Given the description of an element on the screen output the (x, y) to click on. 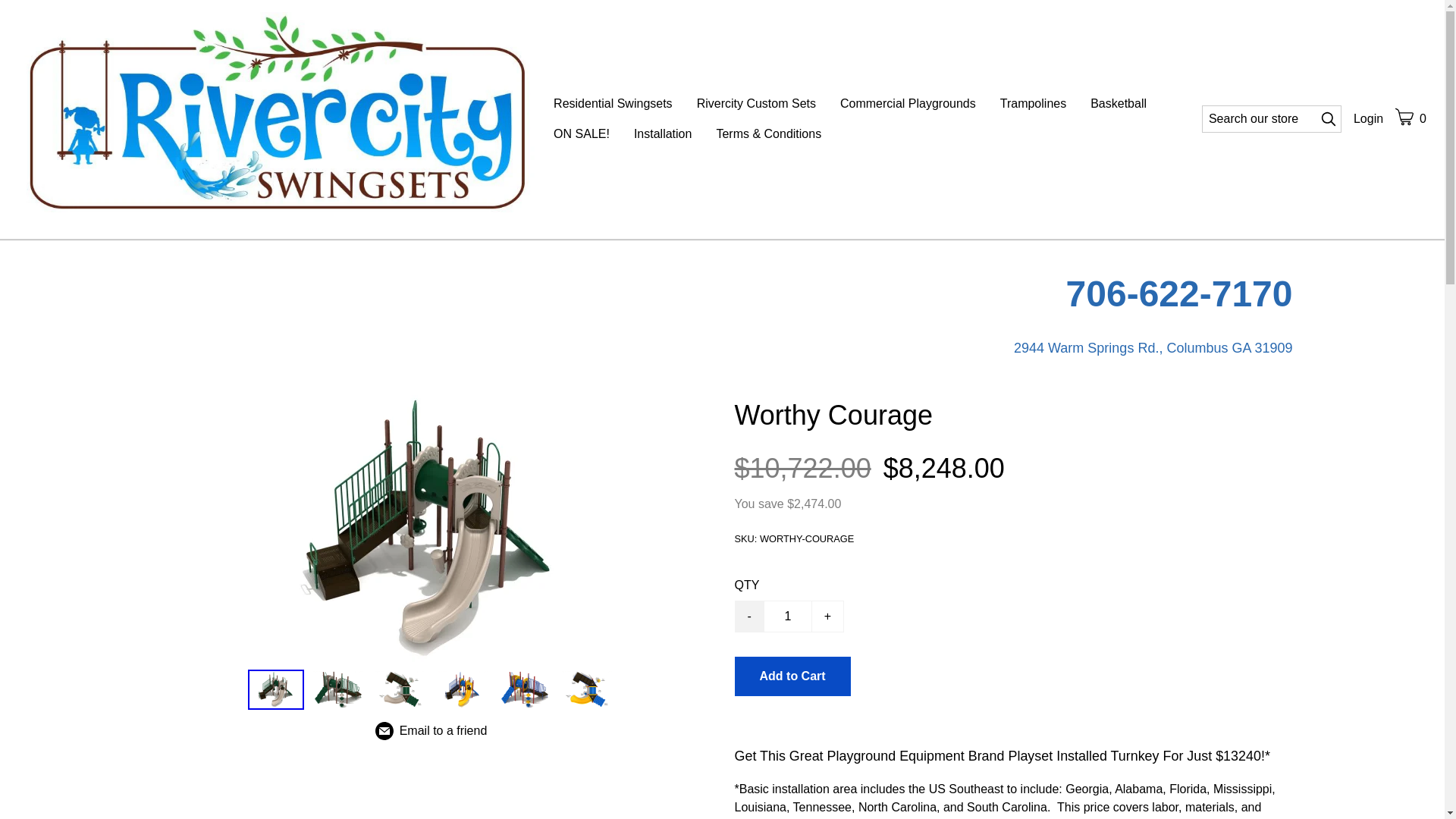
View image 6 (585, 689)
- (747, 616)
1 (787, 616)
Basketball (1118, 103)
Trampolines (1033, 103)
Installation (662, 133)
Commercial Playgrounds (908, 103)
View image 1 (274, 689)
Login (1368, 118)
ON SALE! (581, 133)
Rivercity Custom Sets (756, 103)
Add to Cart (791, 676)
View image 5 (523, 689)
Residential Swingsets (612, 103)
View image 4 (461, 689)
